Given the description of an element on the screen output the (x, y) to click on. 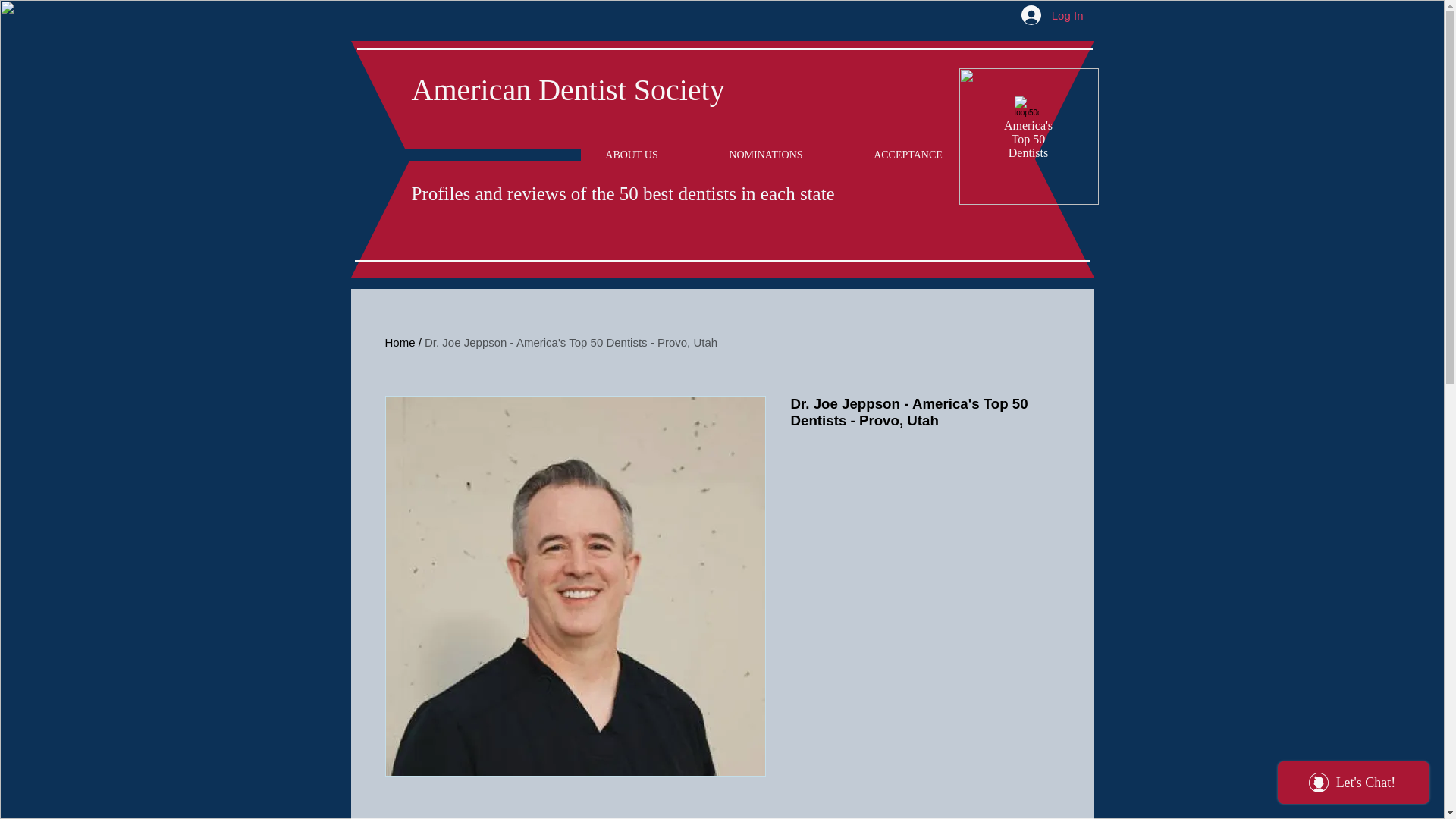
Log In (1052, 14)
Home (399, 341)
NOMINATIONS (765, 154)
ABOUT US (632, 154)
ACCEPTANCE (908, 154)
American Dentist Society (566, 89)
Profiles and reviews of the 50 best dentists in each state (622, 193)
Dr. Joe Jeppson - America's Top 50 Dentists - Provo, Utah (571, 341)
